Given the description of an element on the screen output the (x, y) to click on. 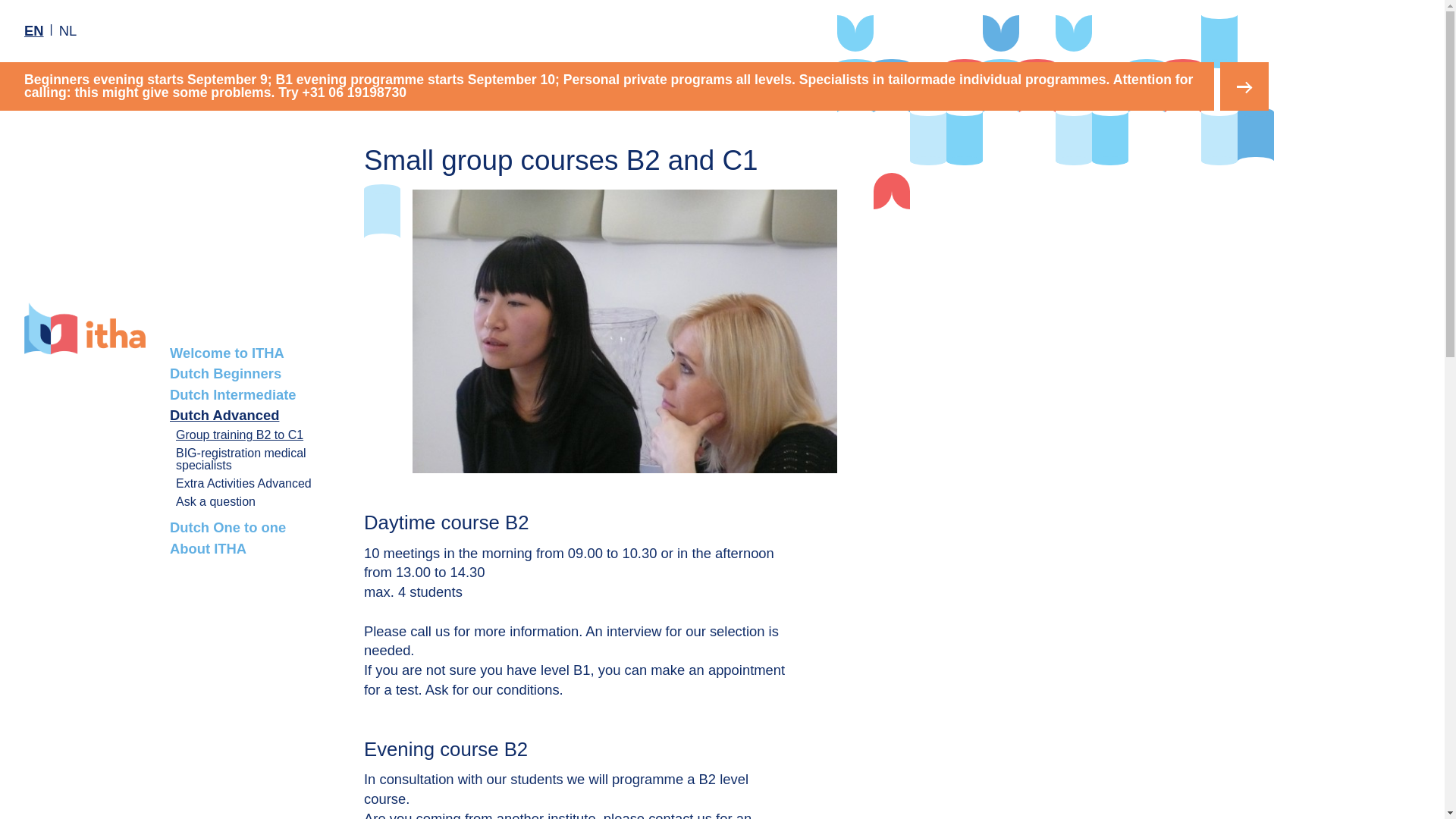
Dutch One to one (254, 527)
Extra Activities Advanced (254, 484)
Ask a question (254, 502)
Dutch Intermediate (254, 394)
BIG-registration medical specialists (254, 459)
About ITHA (254, 548)
Group training B2 to C1 (254, 434)
Welcome to ITHA (254, 353)
Dutch Beginners (254, 373)
EN (33, 31)
